Given the description of an element on the screen output the (x, y) to click on. 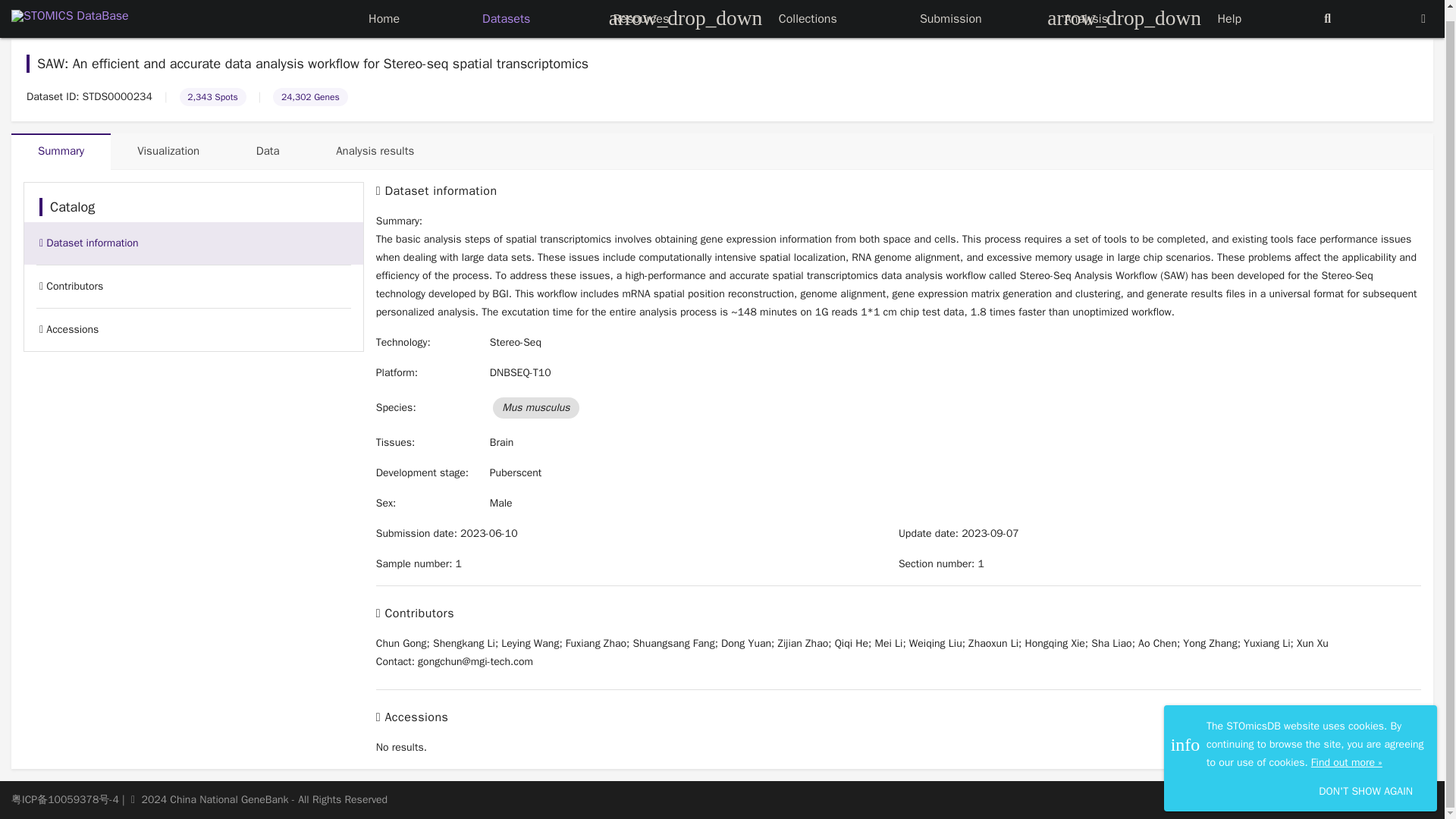
Help (1229, 8)
Home (383, 8)
Submission (950, 8)
Datasets (505, 8)
Collections (807, 8)
Privacy and security policy (721, 151)
